Given the description of an element on the screen output the (x, y) to click on. 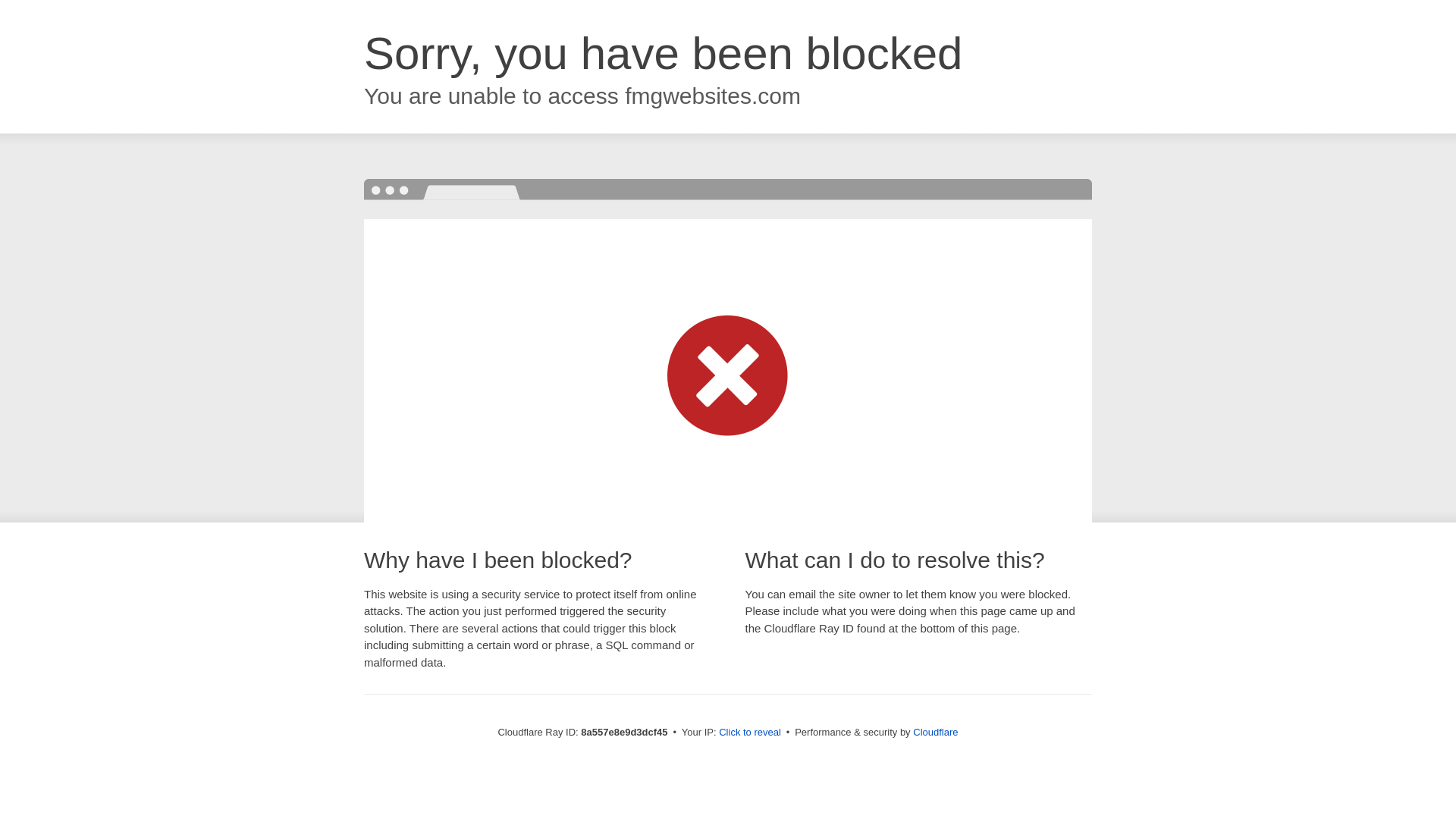
Click to reveal (749, 732)
Cloudflare (935, 731)
